Given the description of an element on the screen output the (x, y) to click on. 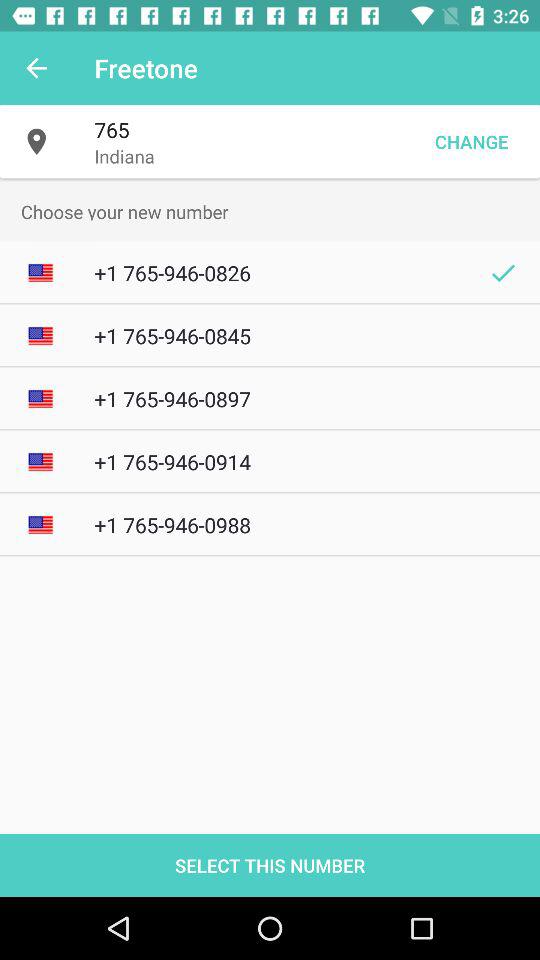
flip to change (471, 141)
